Given the description of an element on the screen output the (x, y) to click on. 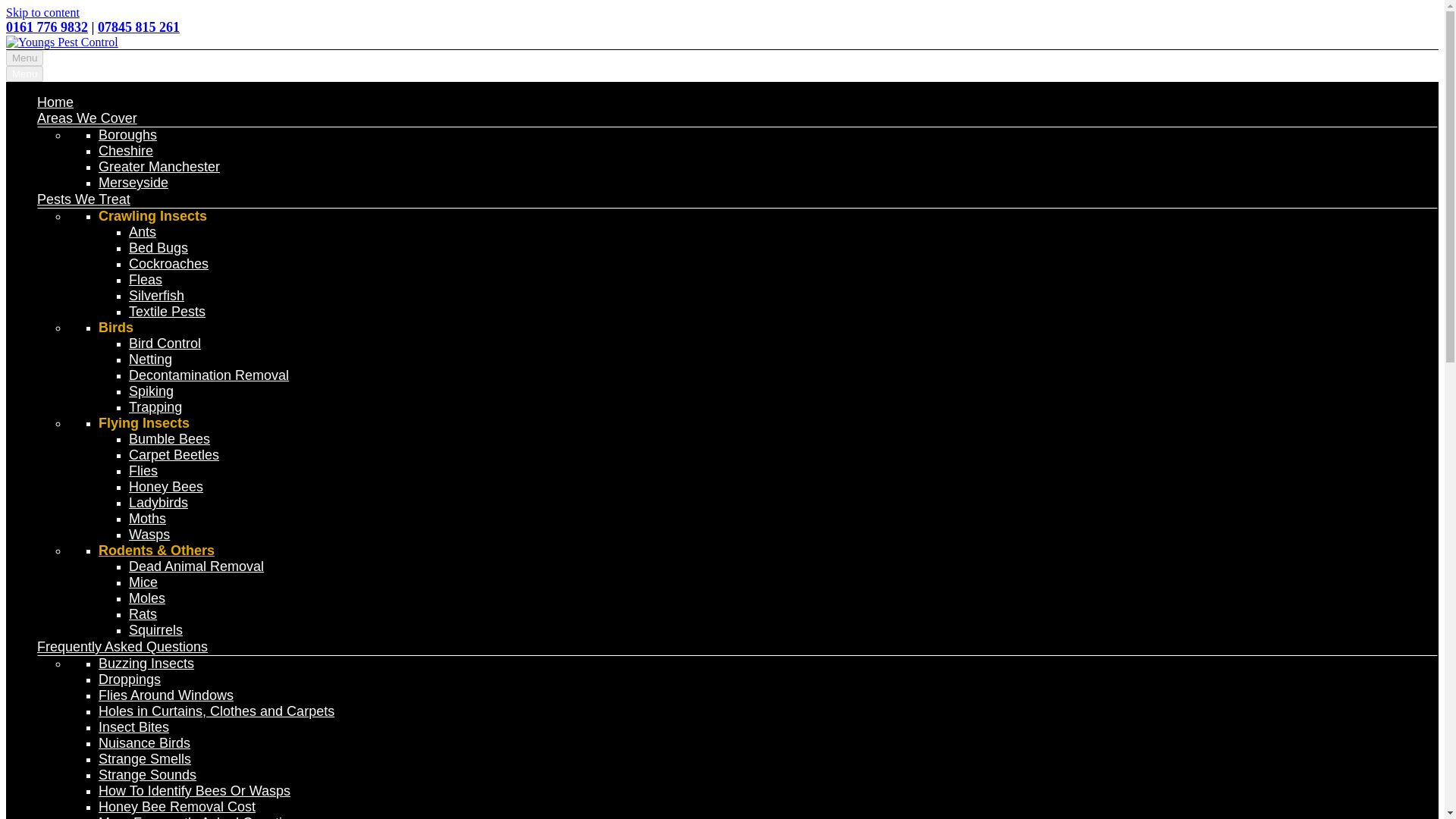
Spiking (151, 391)
Frequently Asked Questions (122, 646)
Menu (24, 73)
Dead Animal Removal (196, 566)
Mice (143, 581)
Pests We Treat (84, 199)
Droppings (129, 679)
Wasps (149, 534)
Ants (142, 231)
Moles (147, 598)
Ladybirds (158, 502)
Cockroaches (168, 263)
Rats (143, 613)
0161 776 9832 (46, 27)
Netting (150, 359)
